Given the description of an element on the screen output the (x, y) to click on. 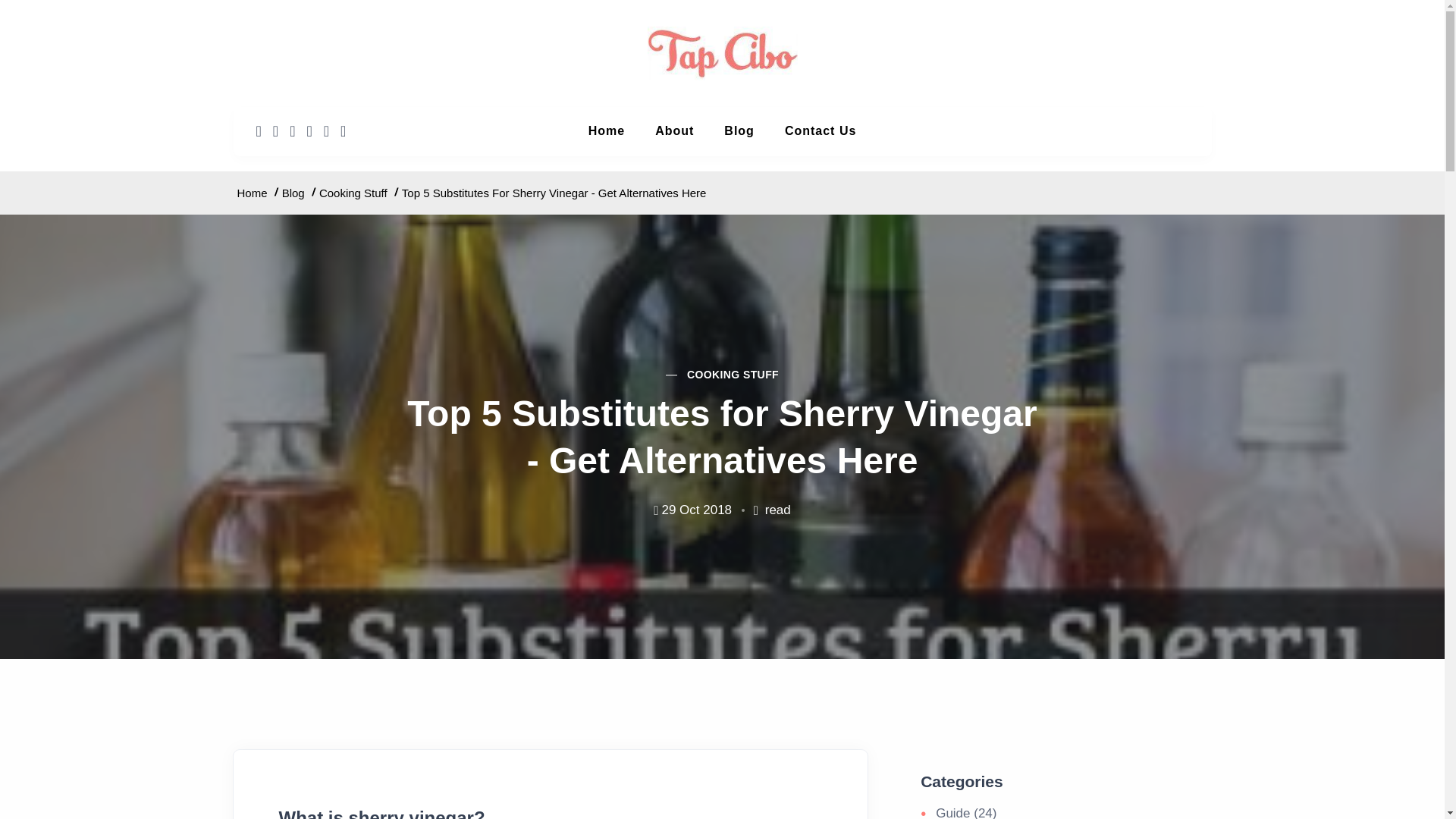
Blog (739, 131)
Contact Us (820, 131)
Home (606, 131)
About (674, 131)
